Given the description of an element on the screen output the (x, y) to click on. 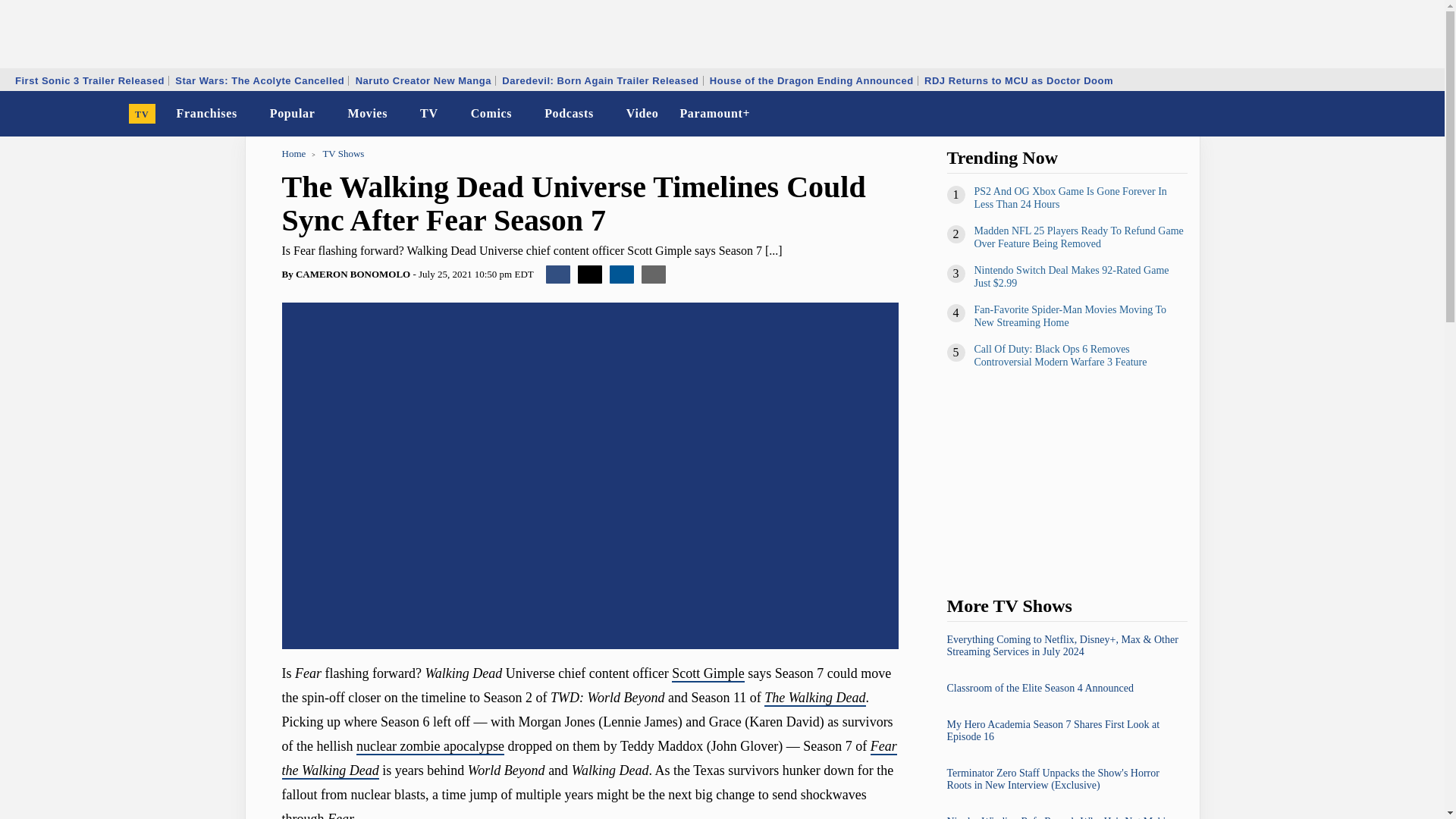
Naruto Creator New Manga (423, 80)
Star Wars: The Acolyte Cancelled (259, 80)
Dark Mode (1394, 113)
House of the Dragon Ending Announced (811, 80)
TV (142, 113)
Search (1422, 114)
First Sonic 3 Trailer Released (89, 80)
Popular (292, 113)
Movies (366, 113)
RDJ Returns to MCU as Doctor Doom (1018, 80)
